Given the description of an element on the screen output the (x, y) to click on. 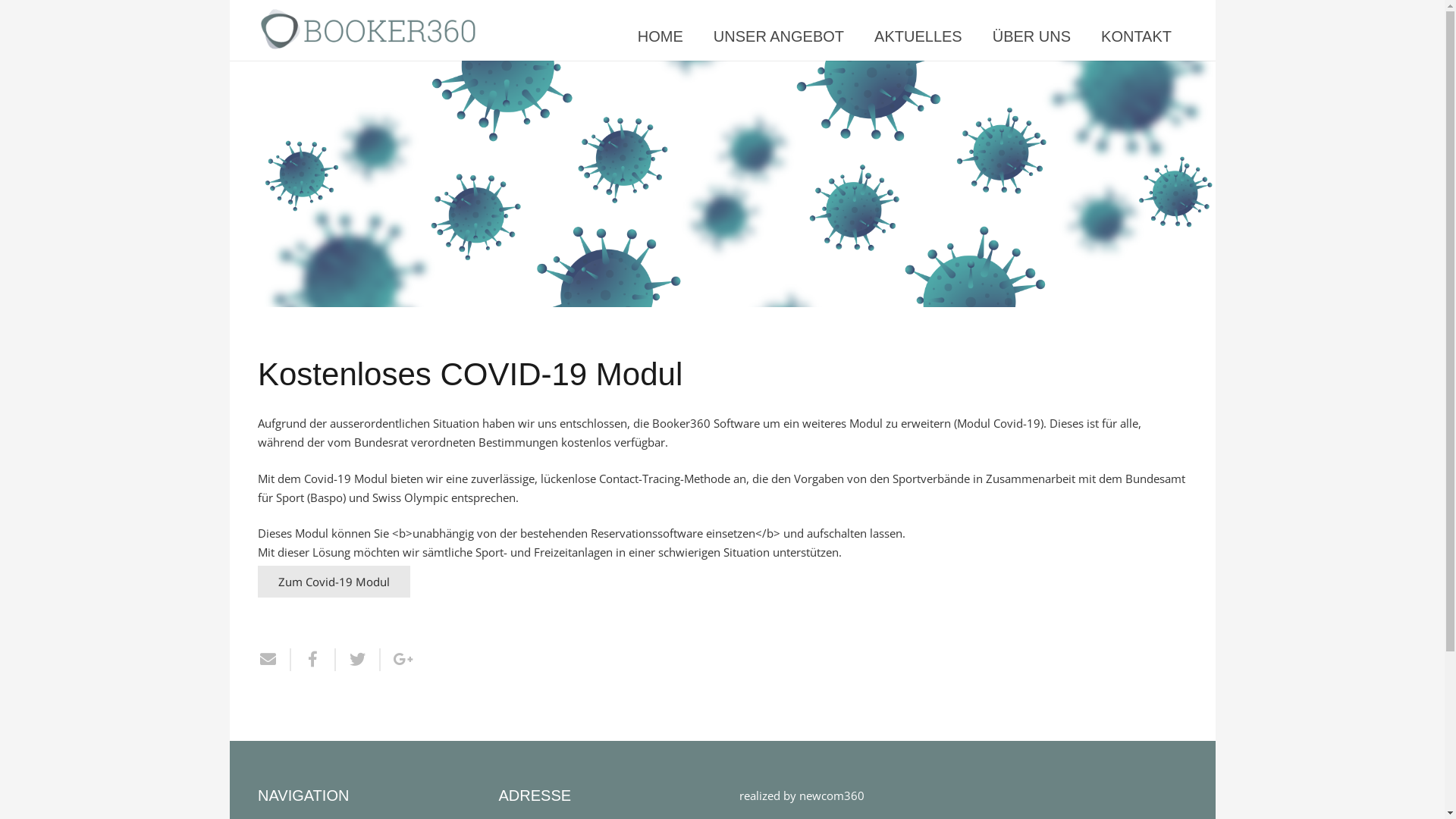
KONTAKT Element type: text (1135, 35)
UNSER ANGEBOT Element type: text (778, 35)
AKTUELLES Element type: text (918, 35)
Share this Element type: hover (313, 659)
Email this Element type: hover (274, 659)
Share this Element type: hover (396, 659)
HOME Element type: text (660, 35)
Zum Covid-19 Modul Element type: text (333, 581)
newcom360 Element type: text (831, 795)
Tweet this Element type: hover (357, 659)
